Given the description of an element on the screen output the (x, y) to click on. 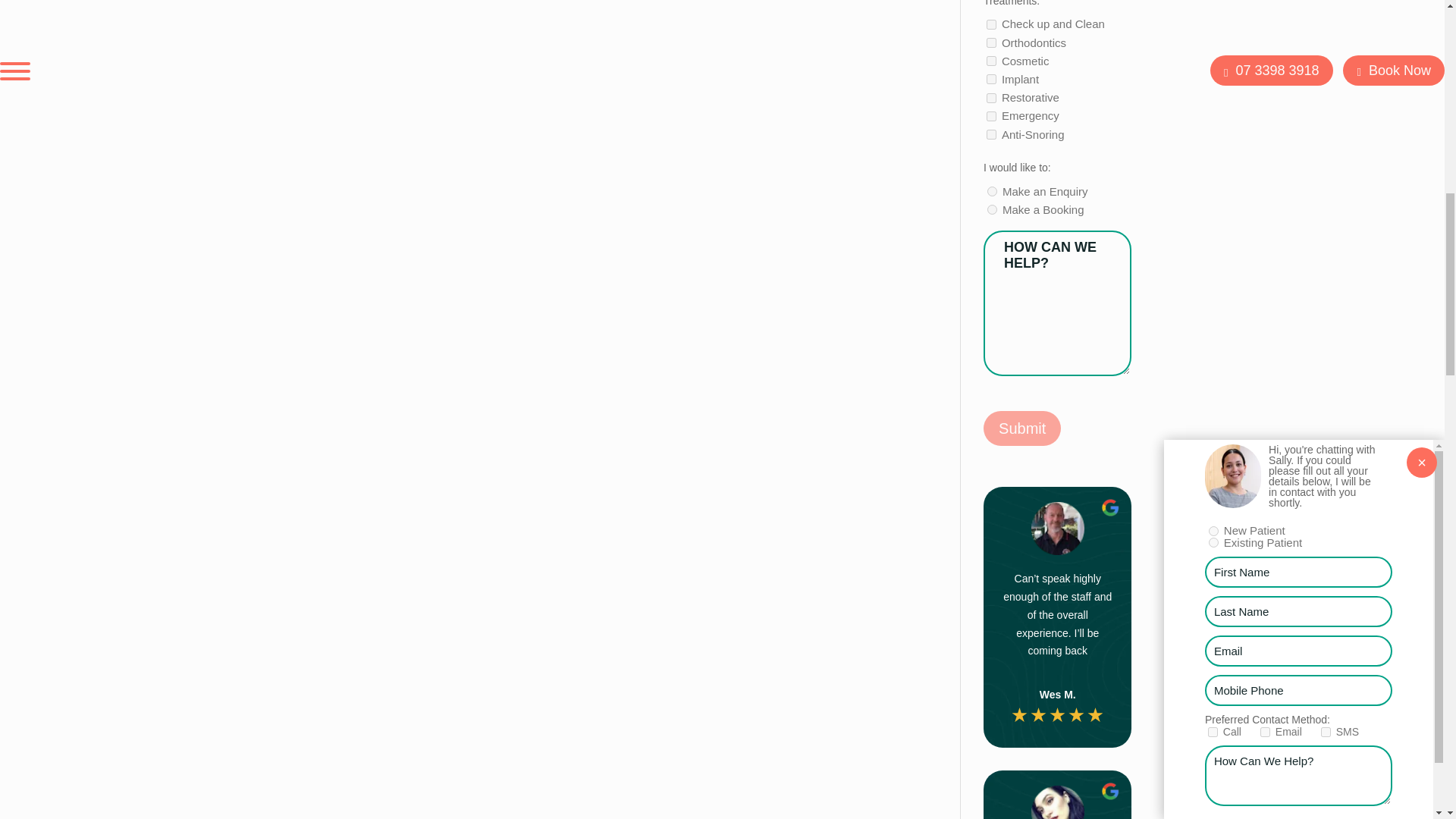
Anti-Snoring (991, 134)
Restorative (991, 98)
Orthodontics (991, 42)
Make an Enquiry (992, 191)
Emergency (991, 116)
Make a Booking (992, 209)
Implant (991, 79)
Check up and Clean (991, 24)
Cosmetic (991, 61)
